Given the description of an element on the screen output the (x, y) to click on. 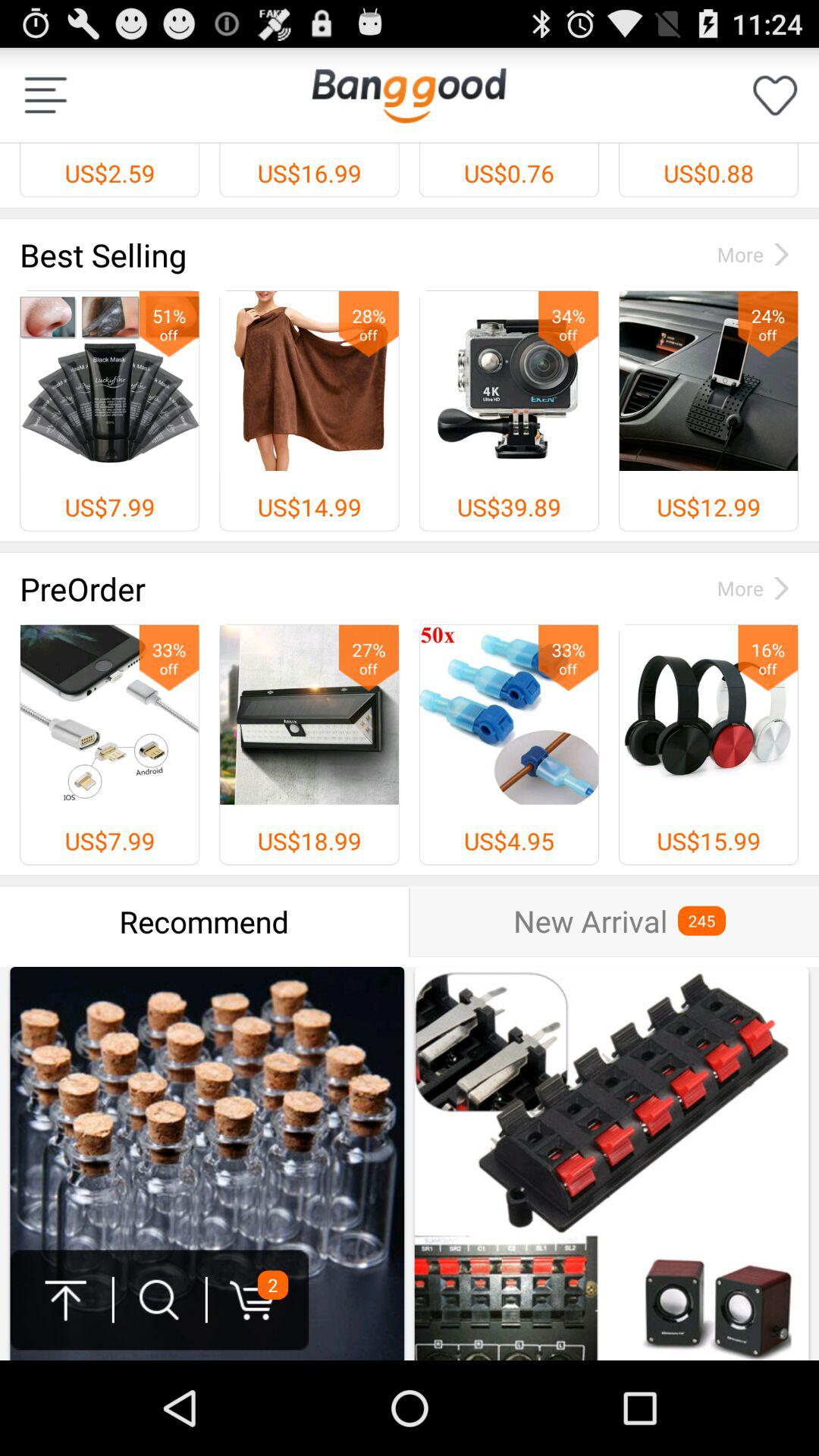
scroll to the recommend (204, 921)
